Given the description of an element on the screen output the (x, y) to click on. 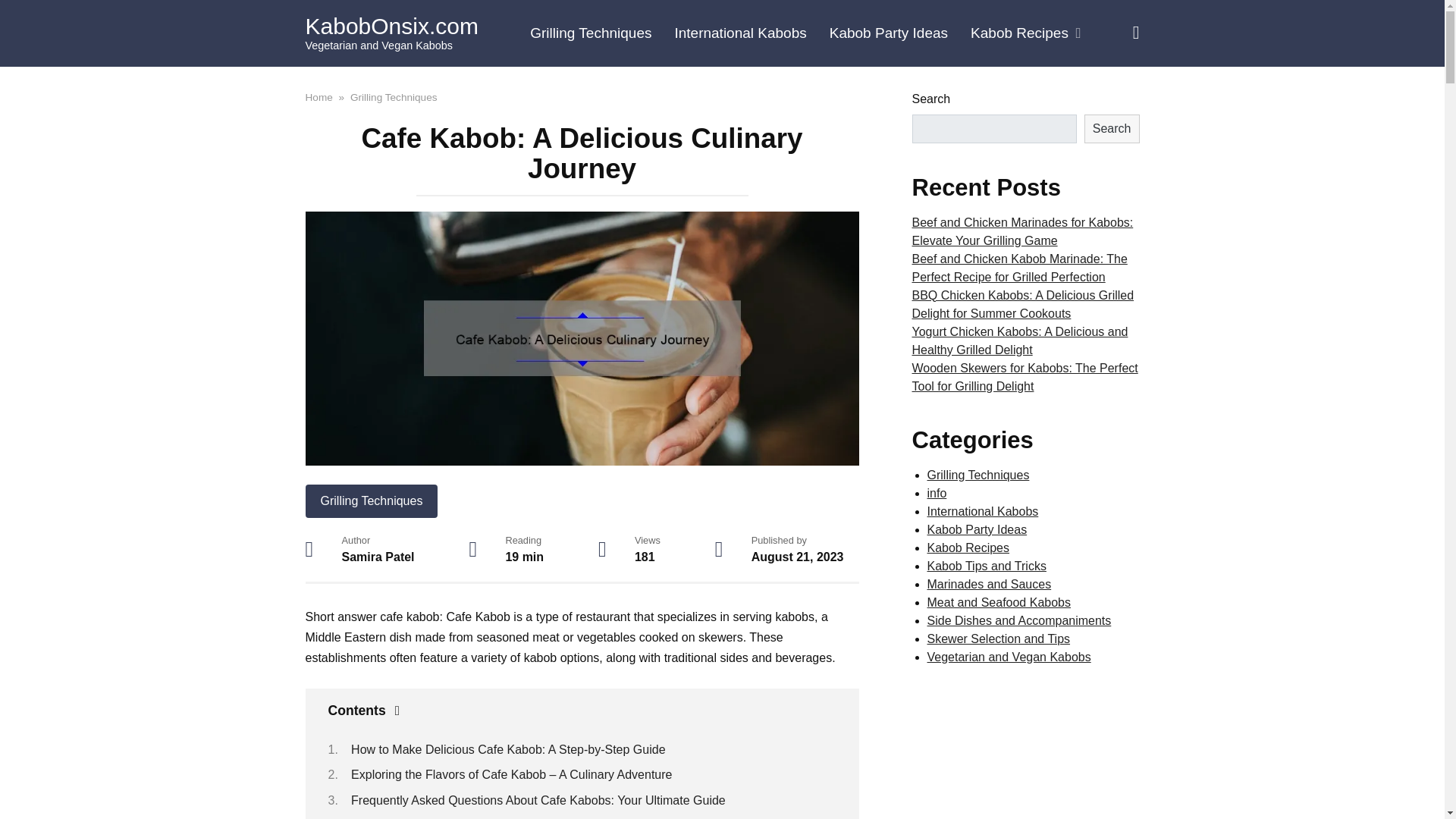
Grilling Techniques (394, 96)
Grilling Techniques (590, 33)
Home (317, 96)
Grilling Techniques (371, 500)
Kabob Recipes (1025, 33)
KabobOnsix.com (390, 25)
International Kabobs (739, 33)
How to Make Delicious Cafe Kabob: A Step-by-Step Guide (507, 748)
Kabob Party Ideas (888, 33)
